Given the description of an element on the screen output the (x, y) to click on. 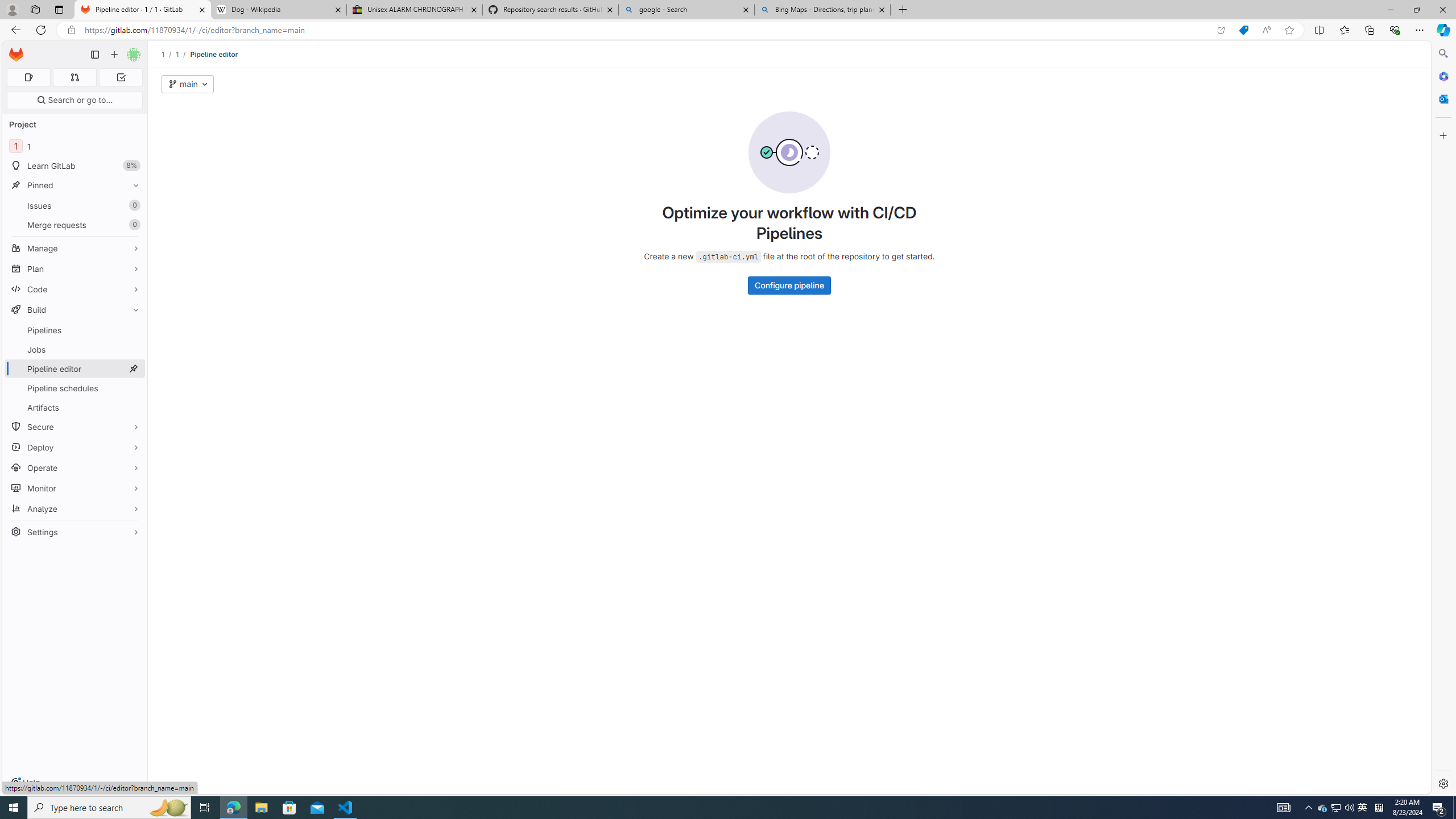
Learn GitLab8% (74, 165)
Jobs (74, 348)
Pipelines (74, 330)
Learn GitLab 8% (74, 165)
Operate (74, 467)
Pipeline schedules (74, 387)
Artifacts (74, 407)
